Given the description of an element on the screen output the (x, y) to click on. 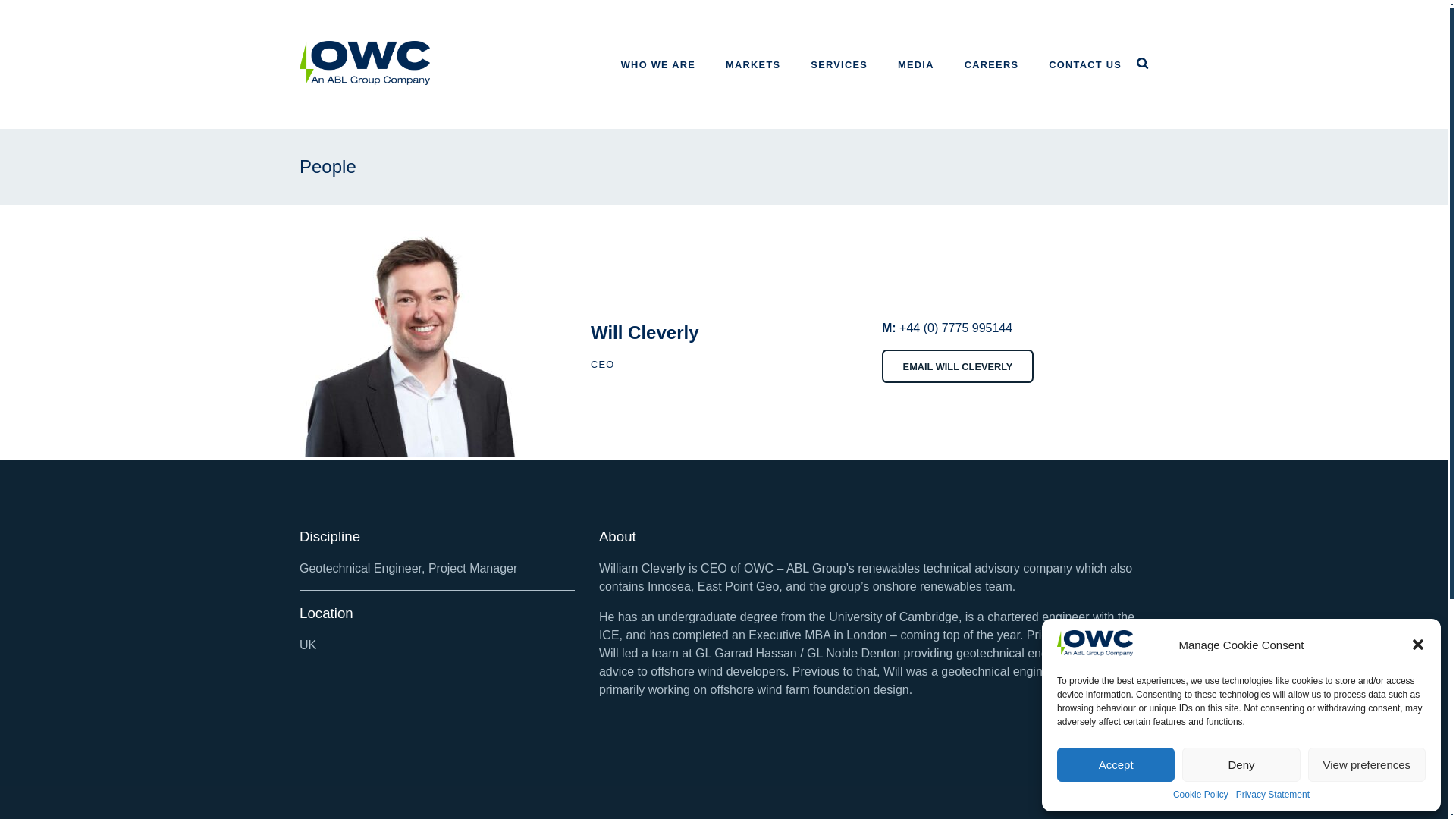
MARKETS (752, 64)
Privacy Statement (1272, 794)
WHO WE ARE (658, 64)
View preferences (1366, 764)
Deny (1241, 764)
SERVICES (838, 64)
Accept (1115, 764)
Cookie Policy (1200, 794)
